Given the description of an element on the screen output the (x, y) to click on. 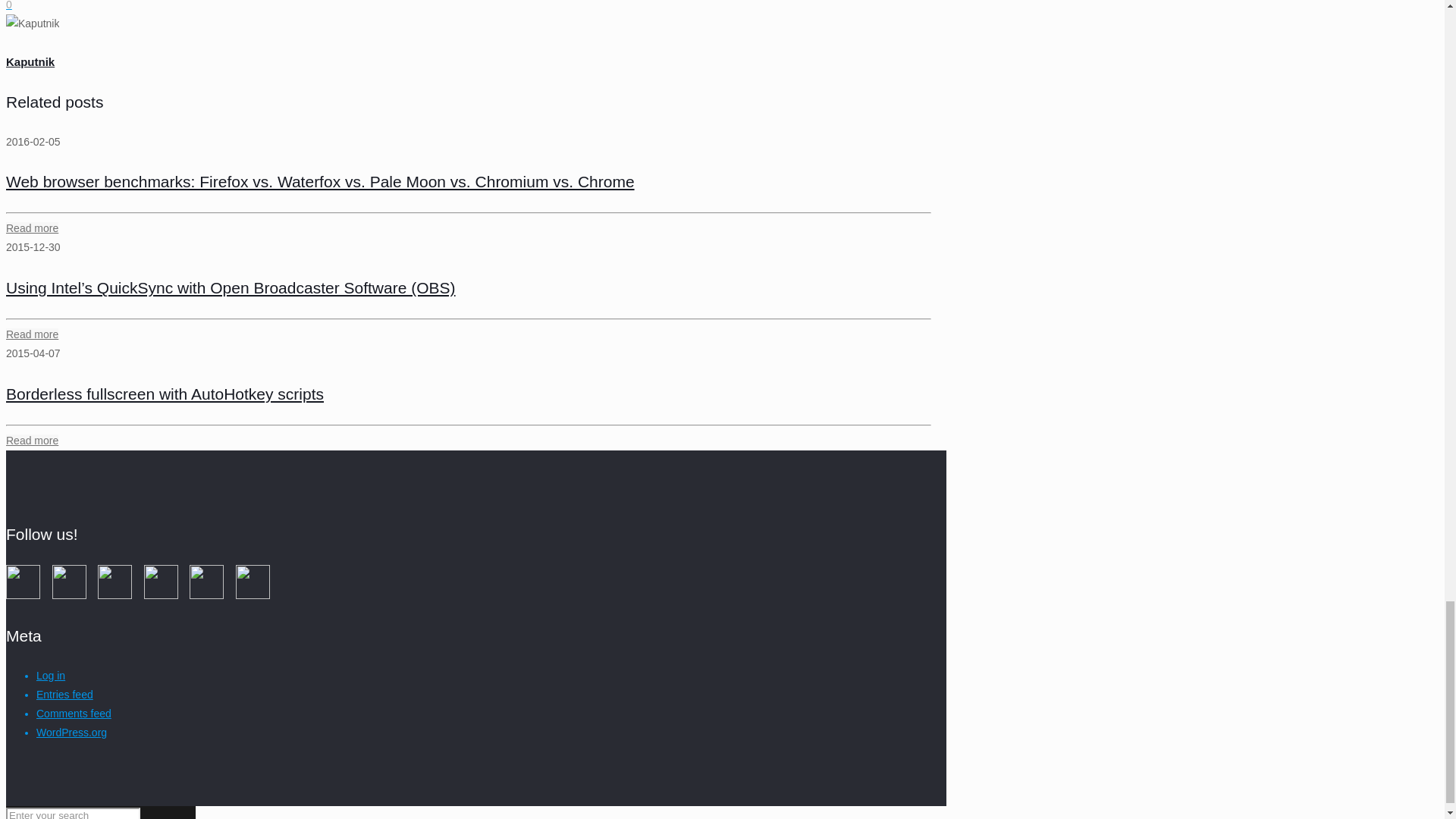
The Kaputniks Twitter (206, 594)
Mamboi's YouTube Channel (68, 594)
Twitch.tv Game Streaming (160, 594)
McAkomx's YouTube Channel (22, 594)
McAkomx's Imgur Gallery (252, 594)
